Given the description of an element on the screen output the (x, y) to click on. 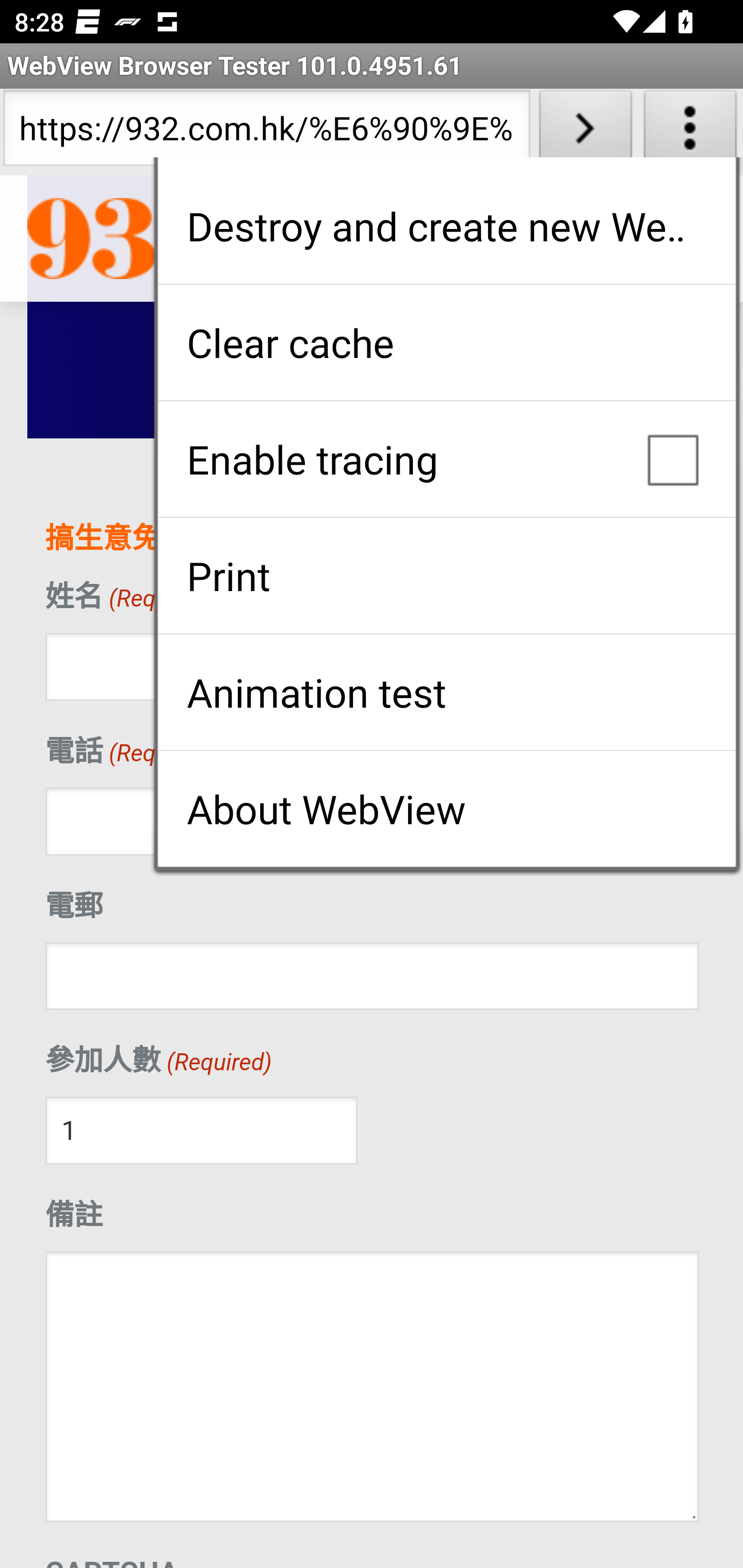
Destroy and create new WebView (446, 225)
Clear cache (446, 342)
Enable tracing (446, 459)
Print (446, 575)
Animation test (446, 692)
About WebView (446, 809)
